Given the description of an element on the screen output the (x, y) to click on. 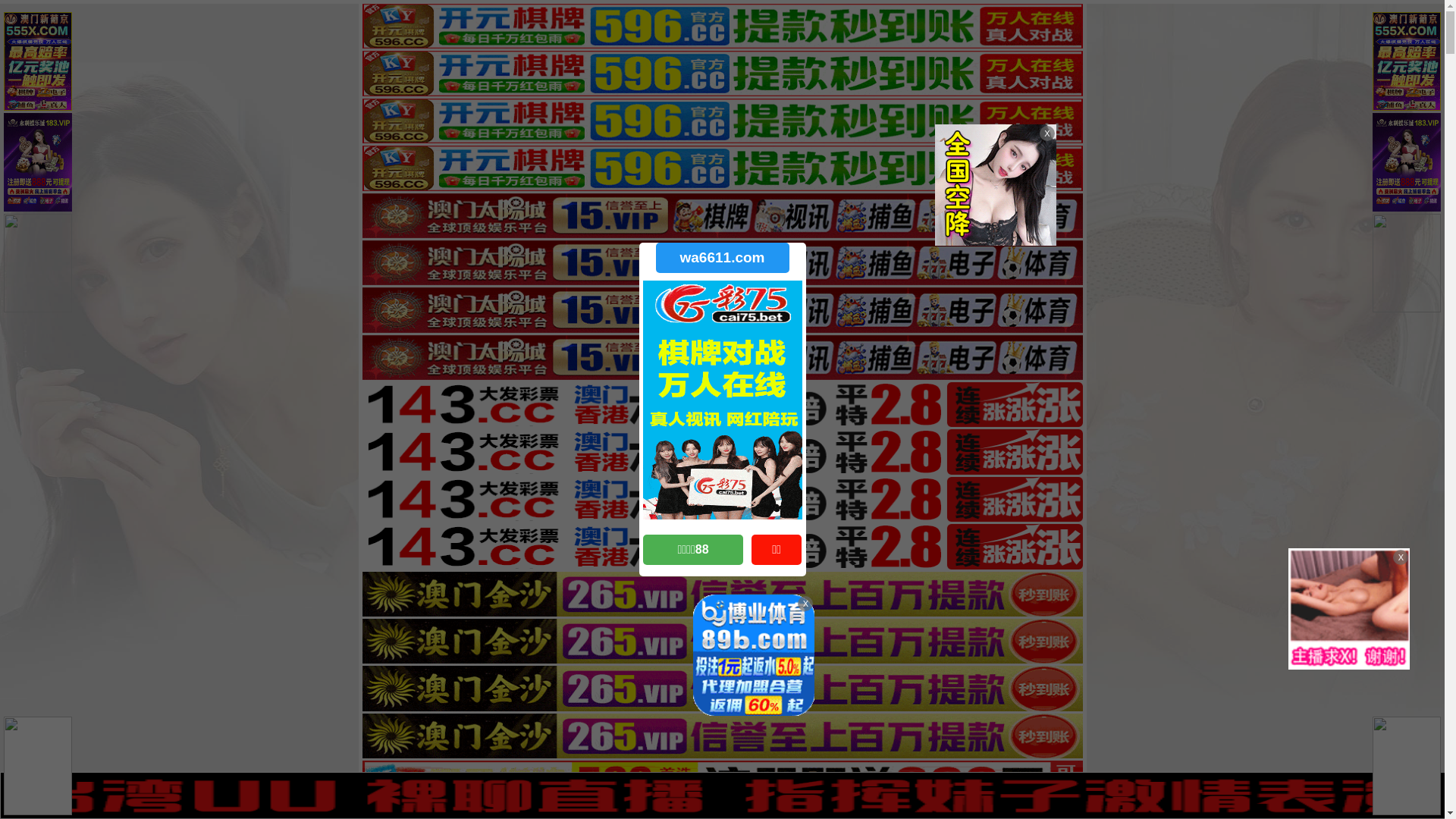
X Element type: text (1430, 789)
wa6611.com Element type: text (721, 257)
